Given the description of an element on the screen output the (x, y) to click on. 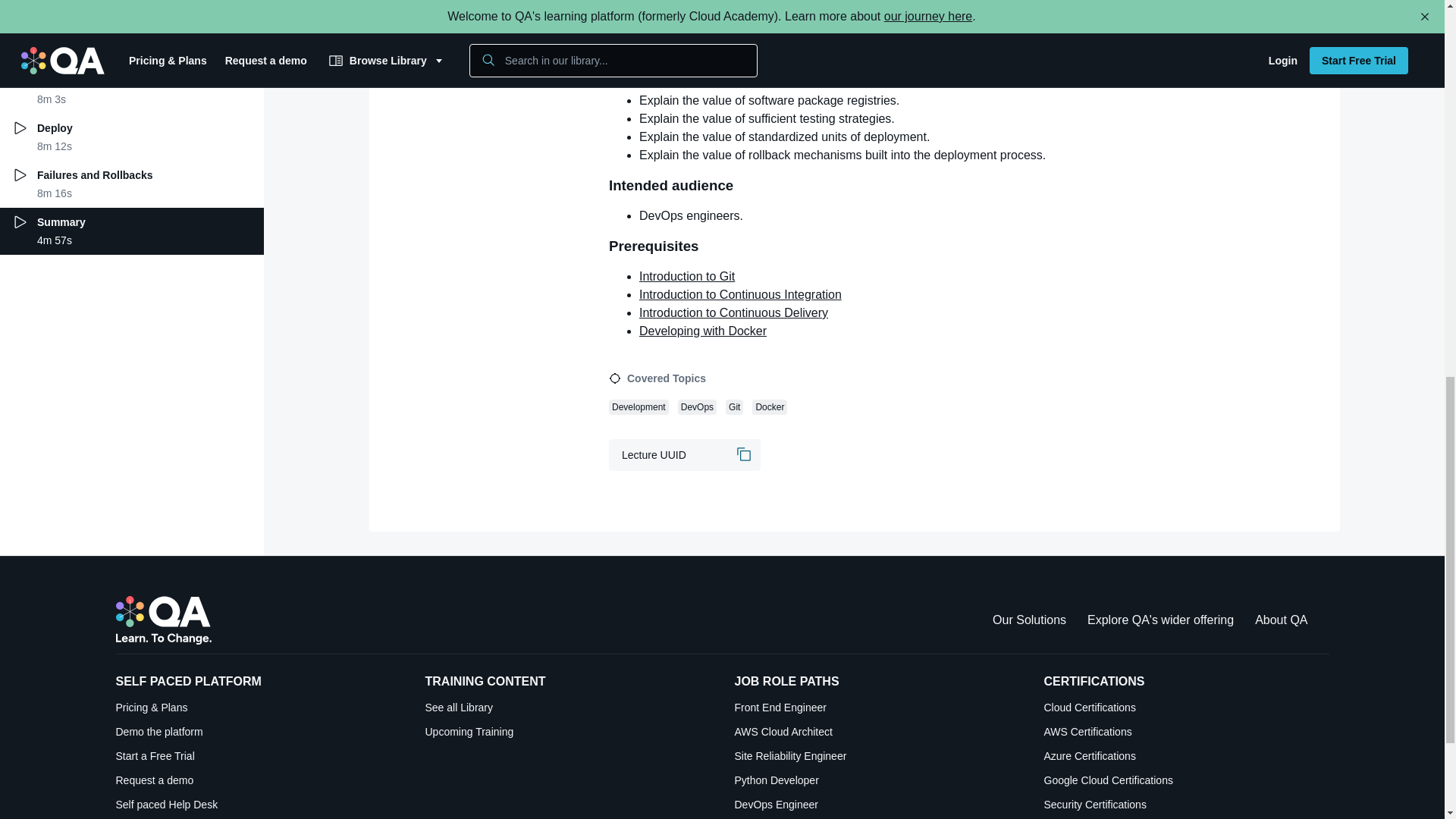
Explore QA's wider offering (1160, 620)
Our Solutions (1028, 620)
Docker (769, 405)
Lecture UUID (684, 454)
Git (733, 405)
Development (638, 405)
Introduction to Continuous Integration (740, 294)
Developing with Docker (703, 330)
Introduction to Continuous Delivery (733, 312)
DevOps (697, 405)
